Given the description of an element on the screen output the (x, y) to click on. 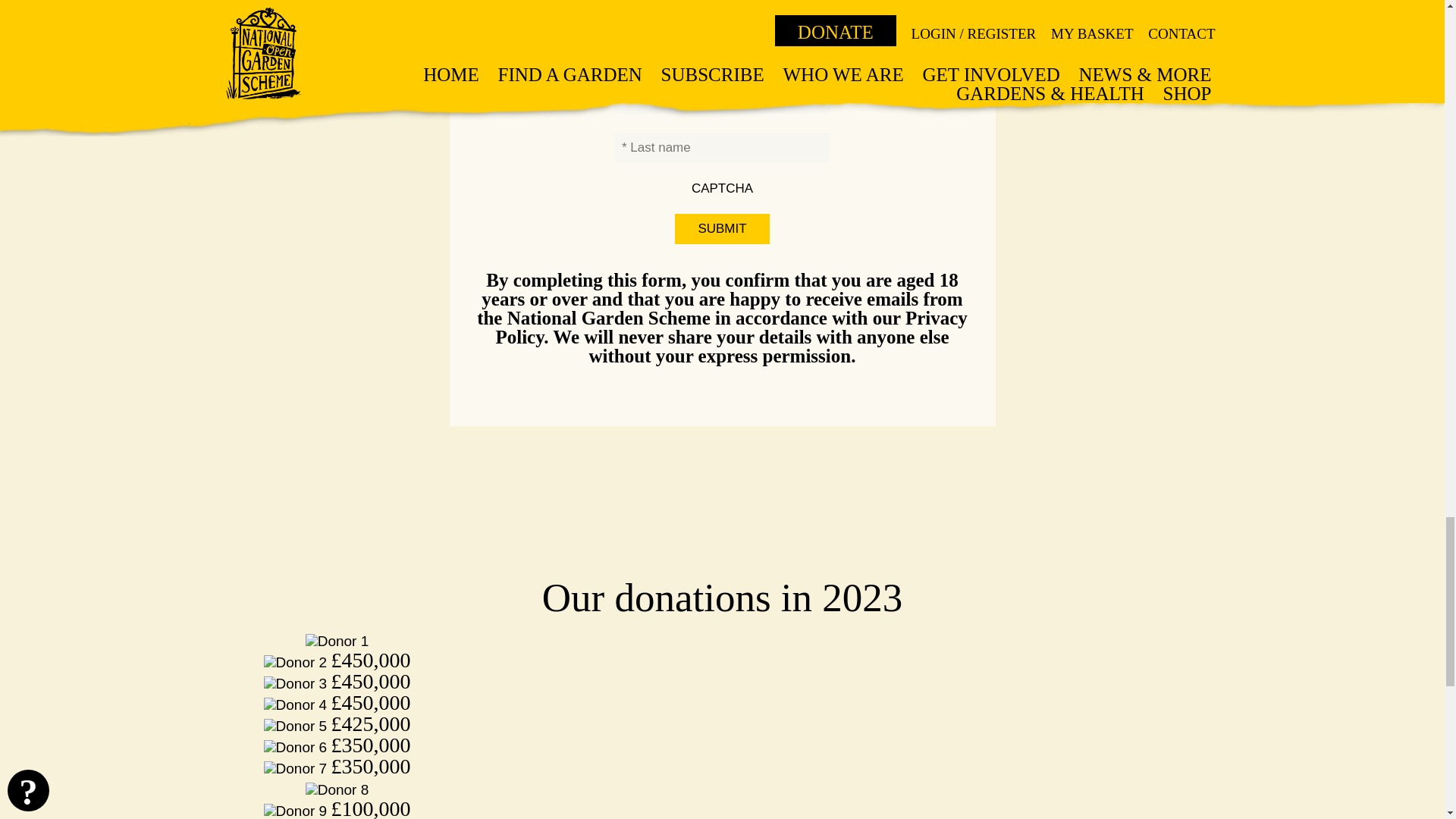
Submit (721, 228)
